Given the description of an element on the screen output the (x, y) to click on. 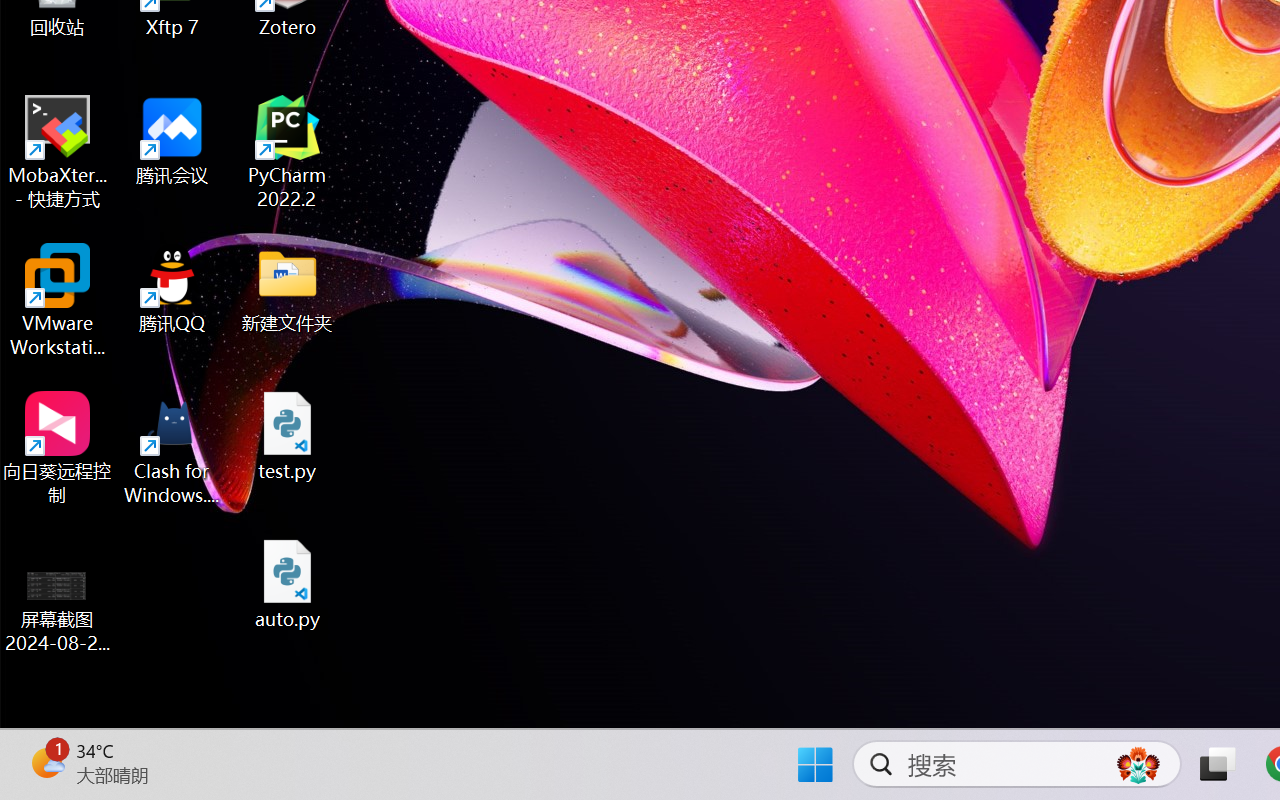
PyCharm 2022.2 (287, 152)
